Given the description of an element on the screen output the (x, y) to click on. 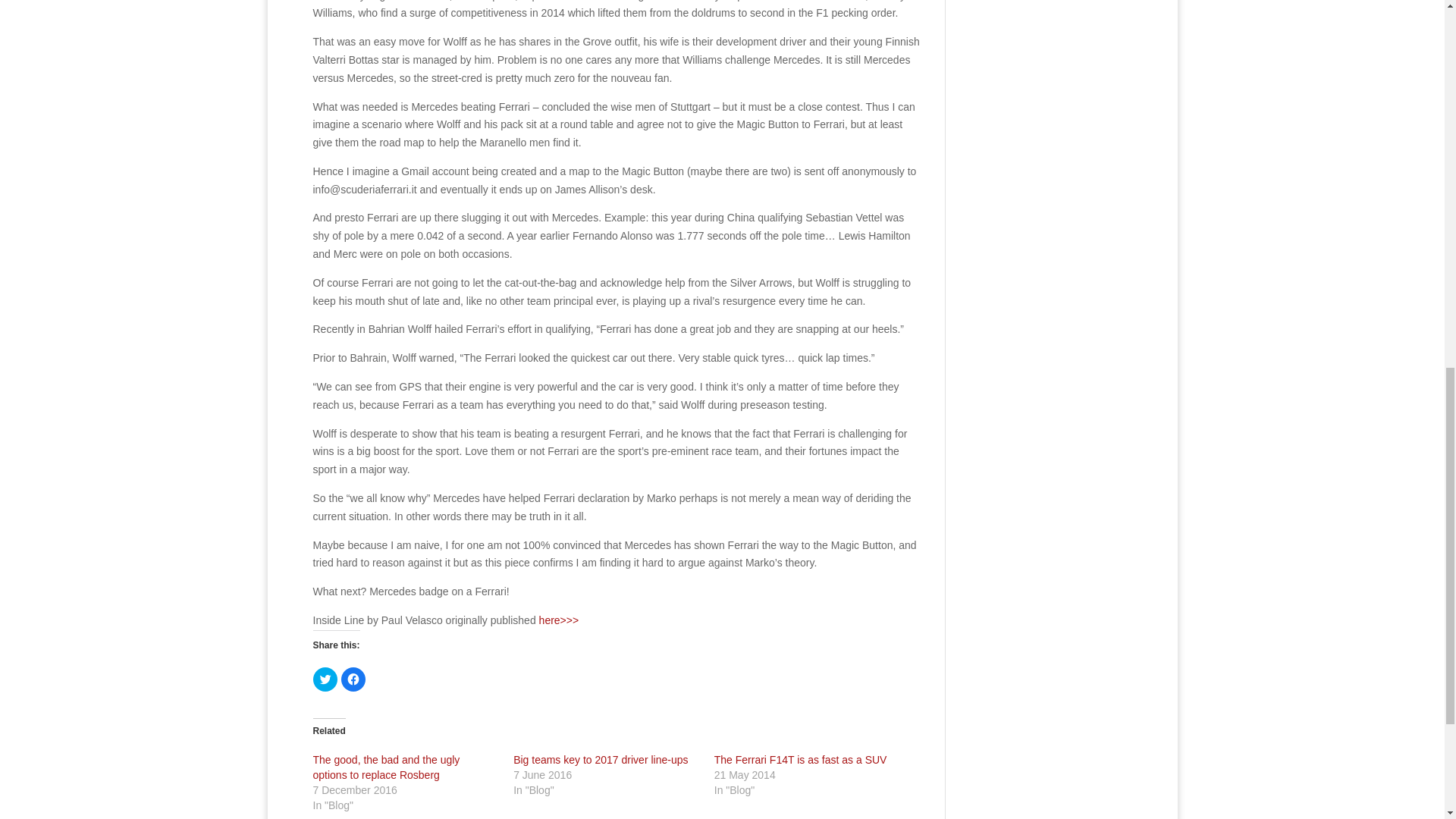
Click to share on Twitter (324, 679)
The good, the bad and the ugly options to replace Rosberg (386, 767)
Big teams key to 2017 driver line-ups (600, 759)
The good, the bad and the ugly options to replace Rosberg (386, 767)
The Ferrari F14T is as fast as a SUV (800, 759)
The Ferrari F14T is as fast as a SUV (800, 759)
Click to share on Facebook (352, 679)
Big teams key to 2017 driver line-ups (600, 759)
